Given the description of an element on the screen output the (x, y) to click on. 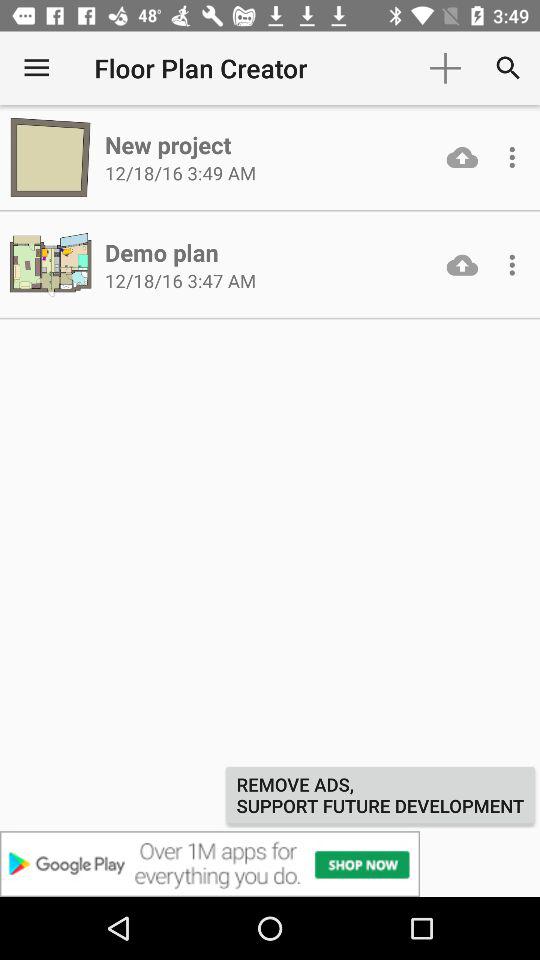
add for google play (270, 864)
